Given the description of an element on the screen output the (x, y) to click on. 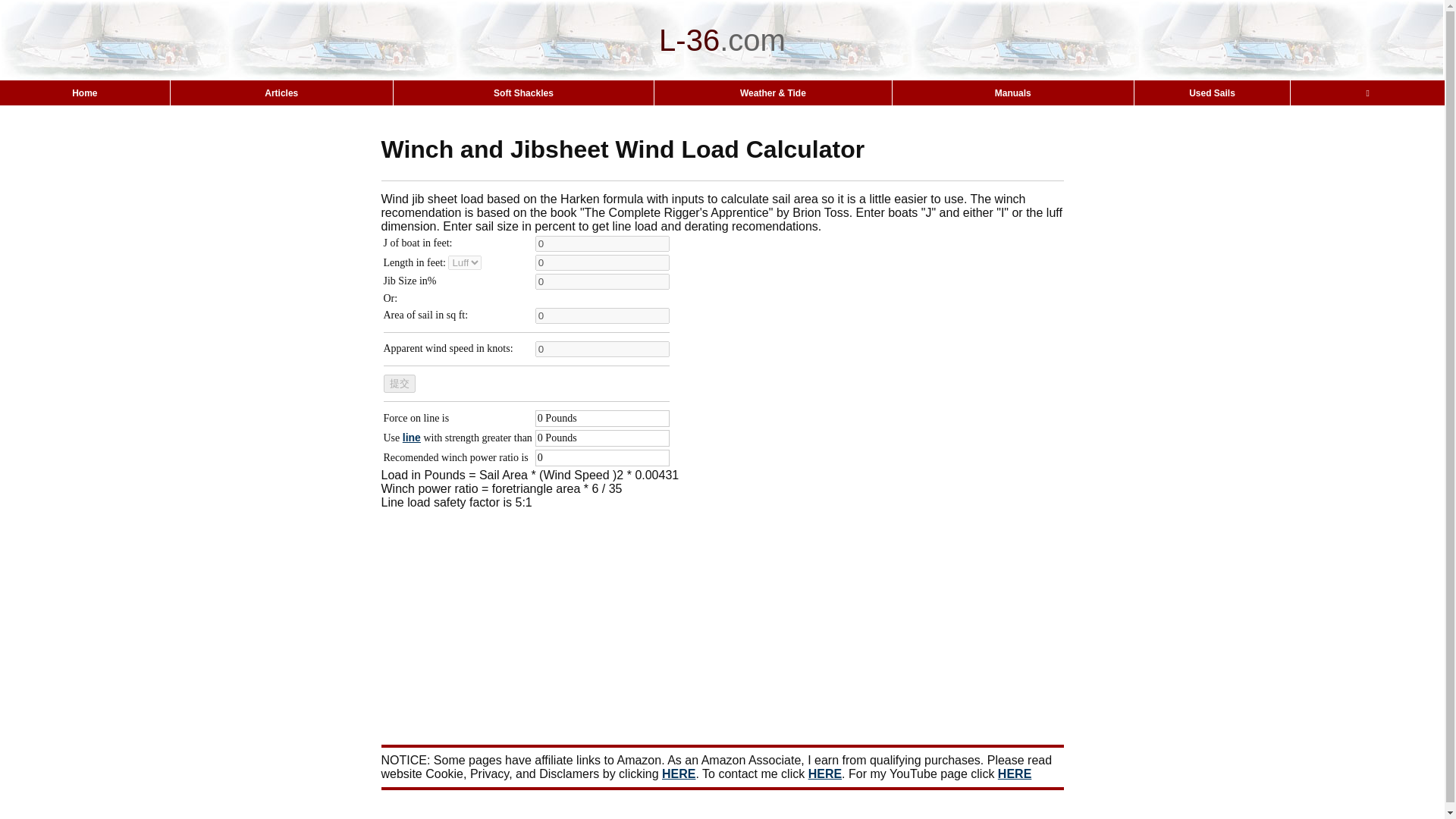
0 (602, 315)
line (411, 437)
HERE (1013, 773)
0 (602, 349)
0 (602, 281)
0 (602, 243)
HERE (678, 773)
0 (602, 262)
HERE (824, 773)
